Given the description of an element on the screen output the (x, y) to click on. 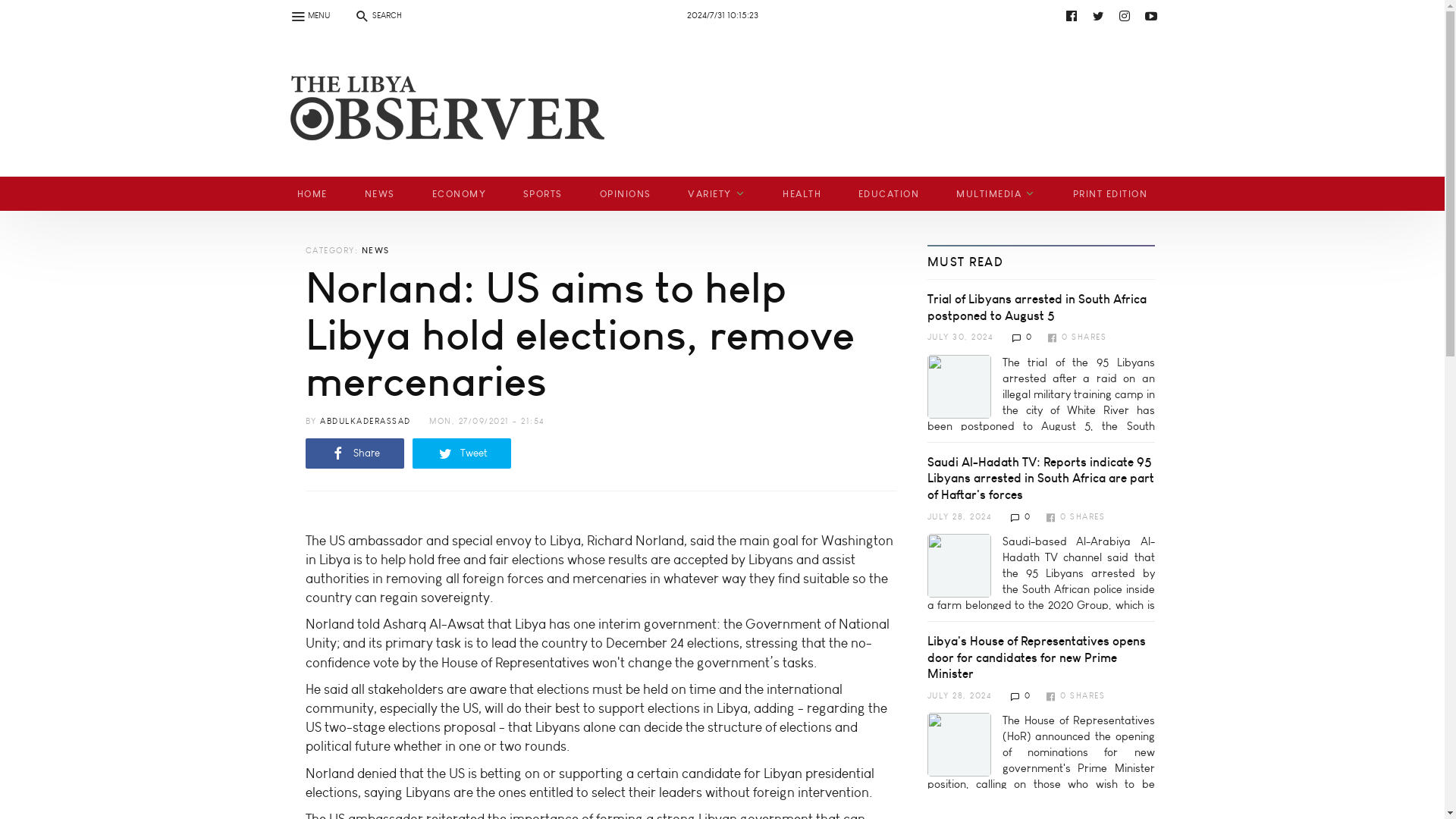
NEWS (379, 193)
ECONOMY (458, 193)
MULTIMEDIA (995, 193)
youtube (1150, 14)
youtube (449, 52)
HOME (312, 193)
instagram (1123, 14)
youtube (736, 14)
OPINIONS (624, 193)
Facebook (1070, 14)
HEALTH (802, 193)
Search (20, 9)
MENU (309, 15)
EDUCATION (888, 193)
